Given the description of an element on the screen output the (x, y) to click on. 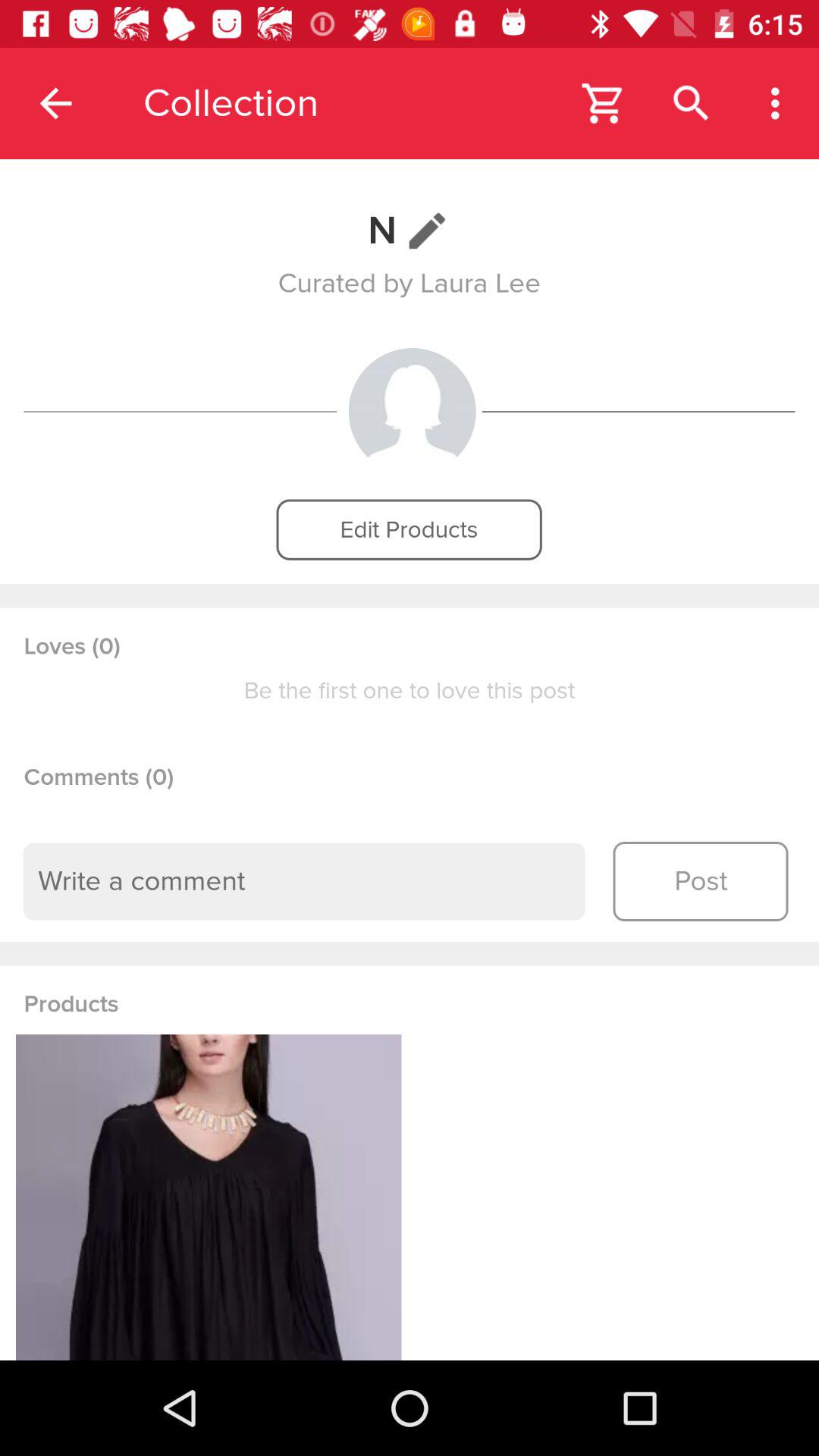
click item next to the post icon (304, 881)
